Given the description of an element on the screen output the (x, y) to click on. 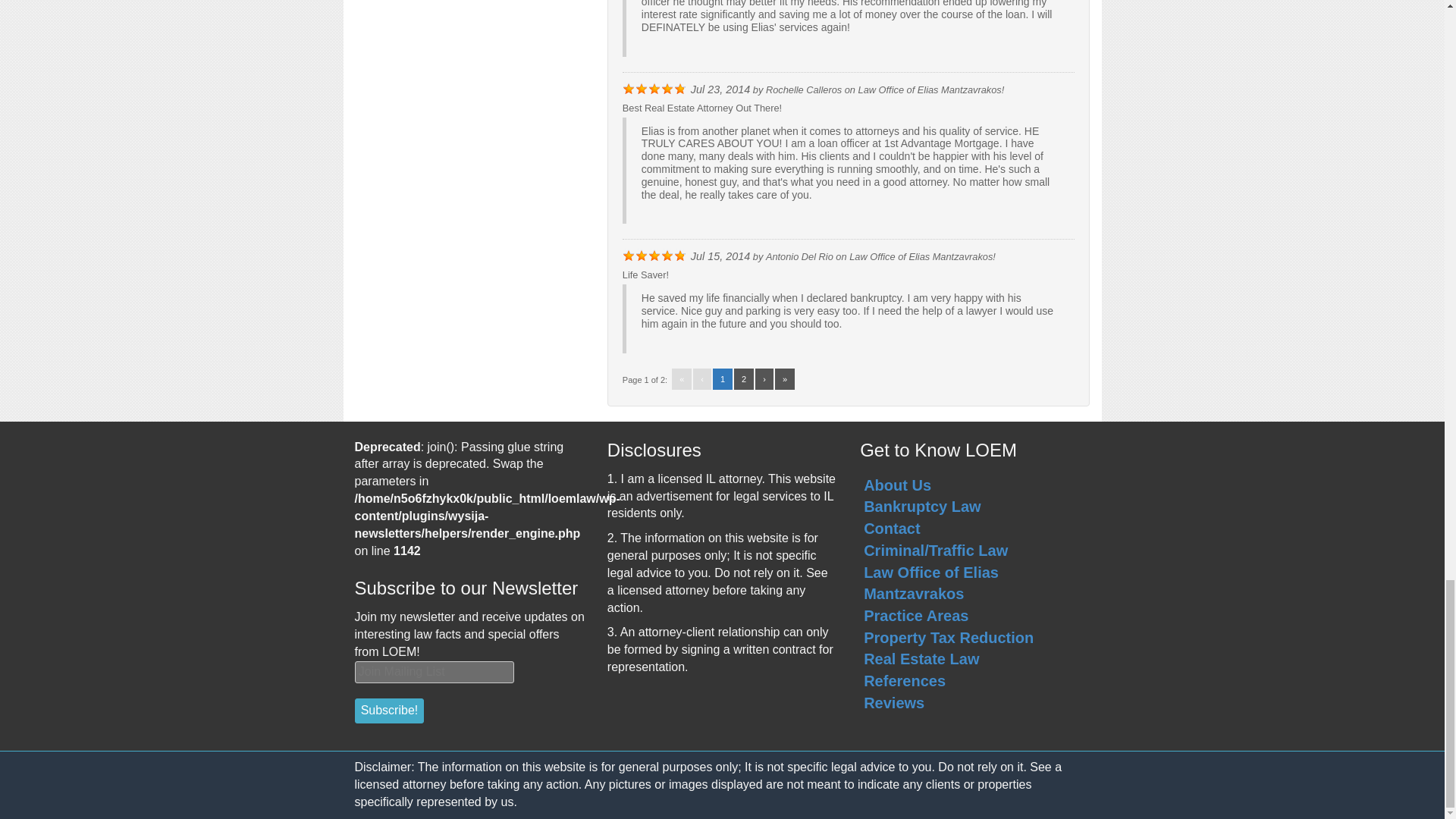
Bankruptcy Law (921, 506)
References (903, 680)
Contact (891, 528)
Subscribe! (390, 710)
About Us (897, 484)
Practice Areas (915, 615)
Real Estate Law (920, 658)
Property Tax Reduction (948, 637)
Subscribe! (390, 710)
Join Mailing List (435, 671)
Law Office of Elias Mantzavrakos (930, 583)
Reviews (893, 702)
